Given the description of an element on the screen output the (x, y) to click on. 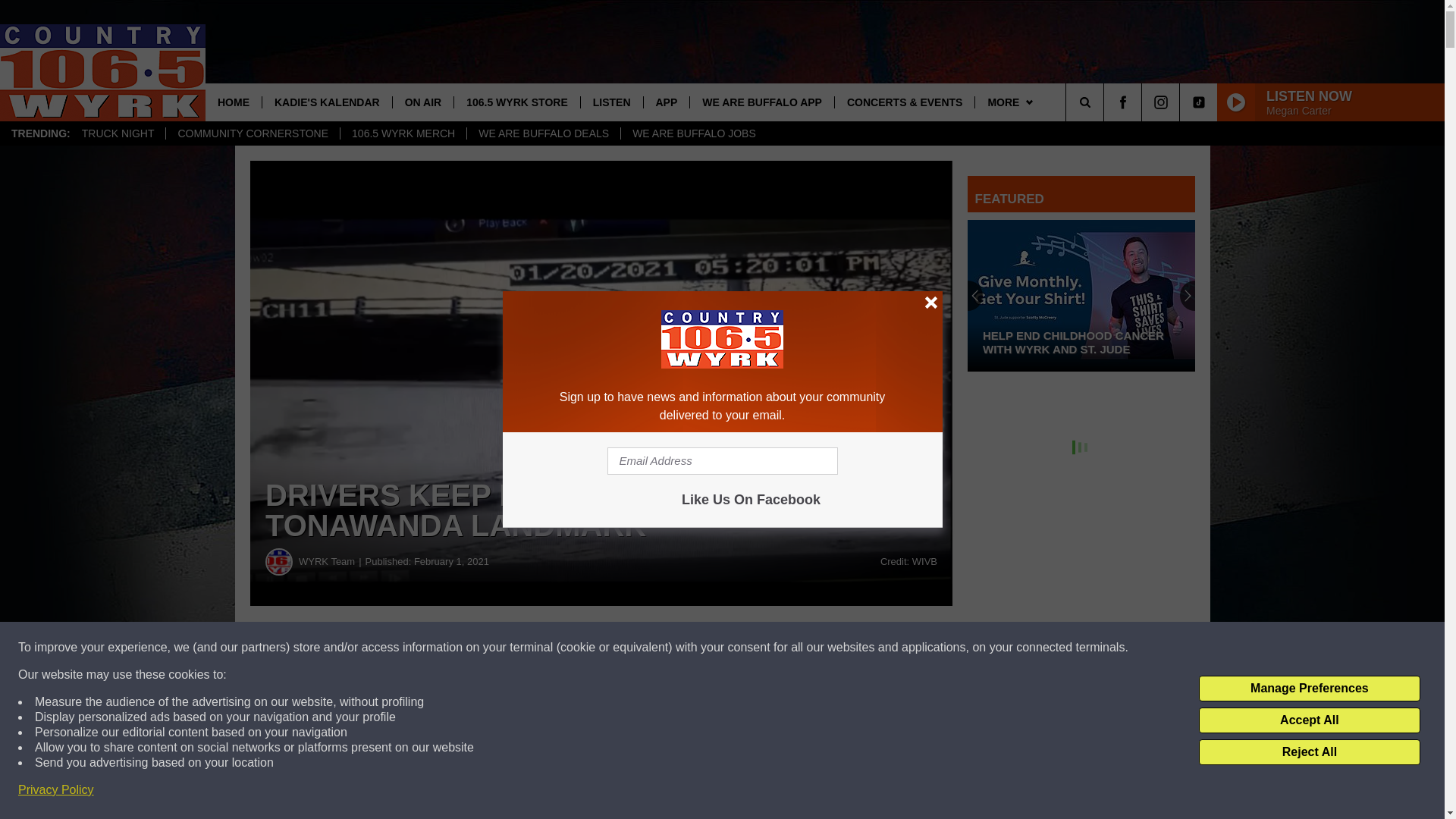
ON AIR (421, 102)
Share on Facebook (600, 647)
Privacy Policy (55, 789)
WE ARE BUFFALO JOBS (693, 133)
WE ARE BUFFALO DEALS (542, 133)
Manage Preferences (1309, 688)
WE ARE BUFFALO APP (761, 102)
106.5 WYRK MERCH (402, 133)
Email Address (722, 461)
TRUCK NIGHT (117, 133)
SEARCH (1106, 102)
SEARCH (1106, 102)
106.5 WYRK STORE (515, 102)
Accept All (1309, 720)
KADIE'S KALENDAR (326, 102)
